Given the description of an element on the screen output the (x, y) to click on. 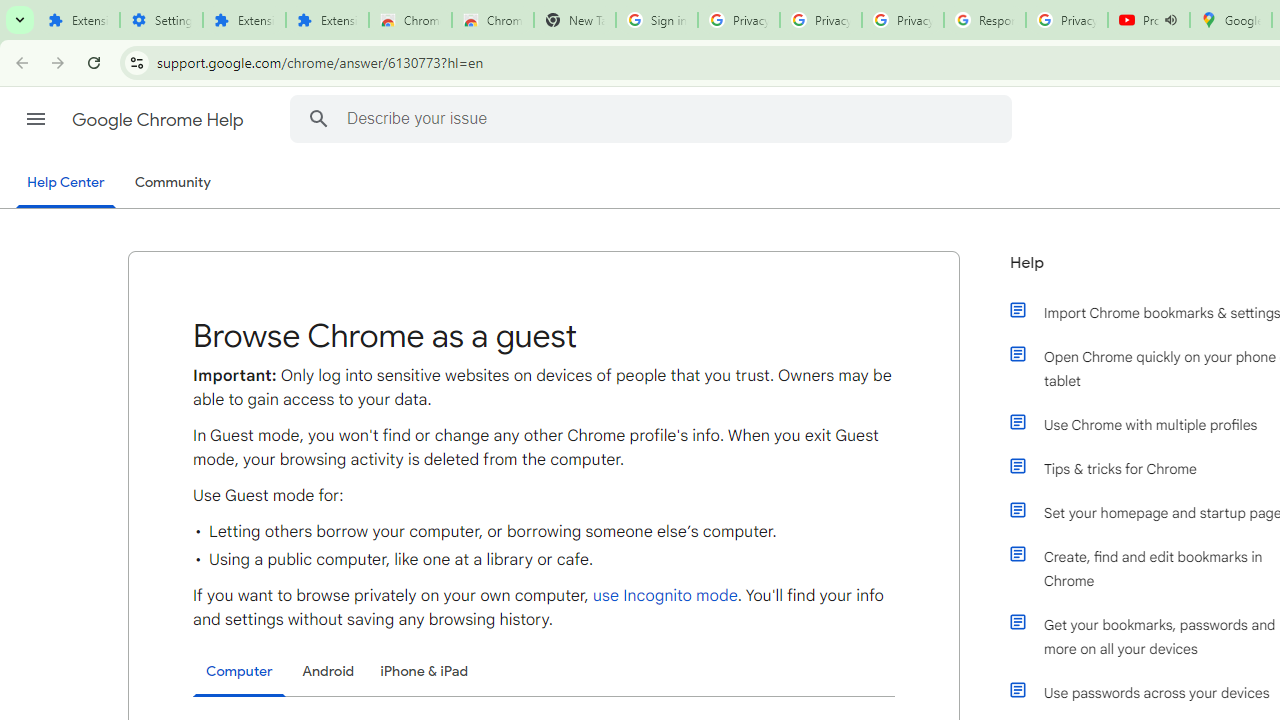
Google Chrome Help (159, 119)
Extensions (78, 20)
New Tab (574, 20)
Search Help Center (318, 118)
Chrome Web Store - Themes (492, 20)
Android (328, 671)
